Given the description of an element on the screen output the (x, y) to click on. 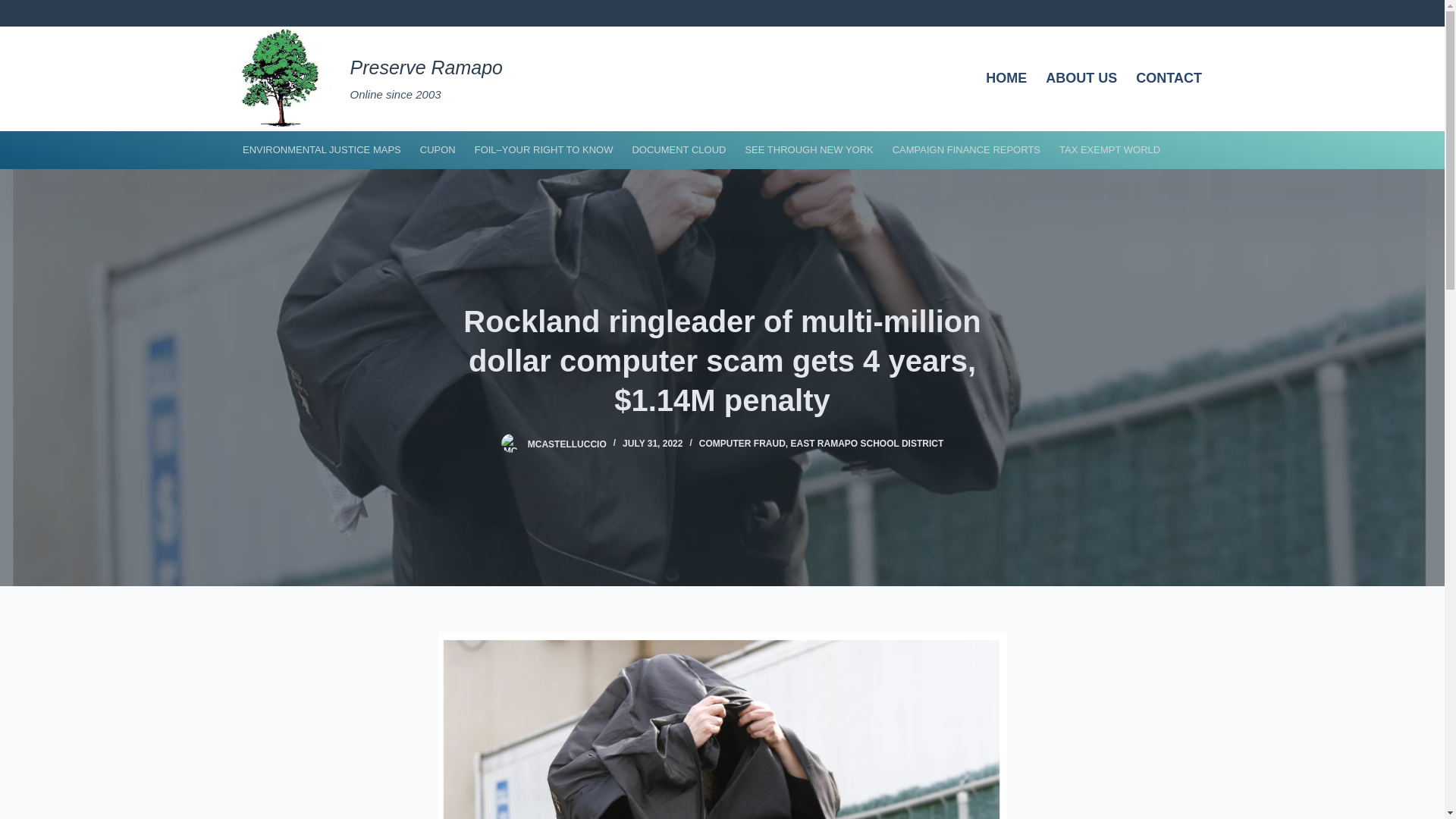
MCASTELLUCCIO (567, 443)
ENVIRONMENTAL JUSTICE MAPS (321, 149)
DOCUMENT CLOUD (679, 149)
CONTACT (1168, 78)
CAMPAIGN FINANCE REPORTS (965, 149)
Preserve Ramapo (426, 66)
ABOUT US (1081, 78)
Skip to content (15, 7)
CUPON (437, 149)
TAX EXEMPT WORLD (1109, 149)
Posts by mcastelluccio (567, 443)
HOME (1006, 78)
SEE THROUGH NEW YORK (808, 149)
COMPUTER FRAUD (742, 443)
EAST RAMAPO SCHOOL DISTRICT (866, 443)
